Given the description of an element on the screen output the (x, y) to click on. 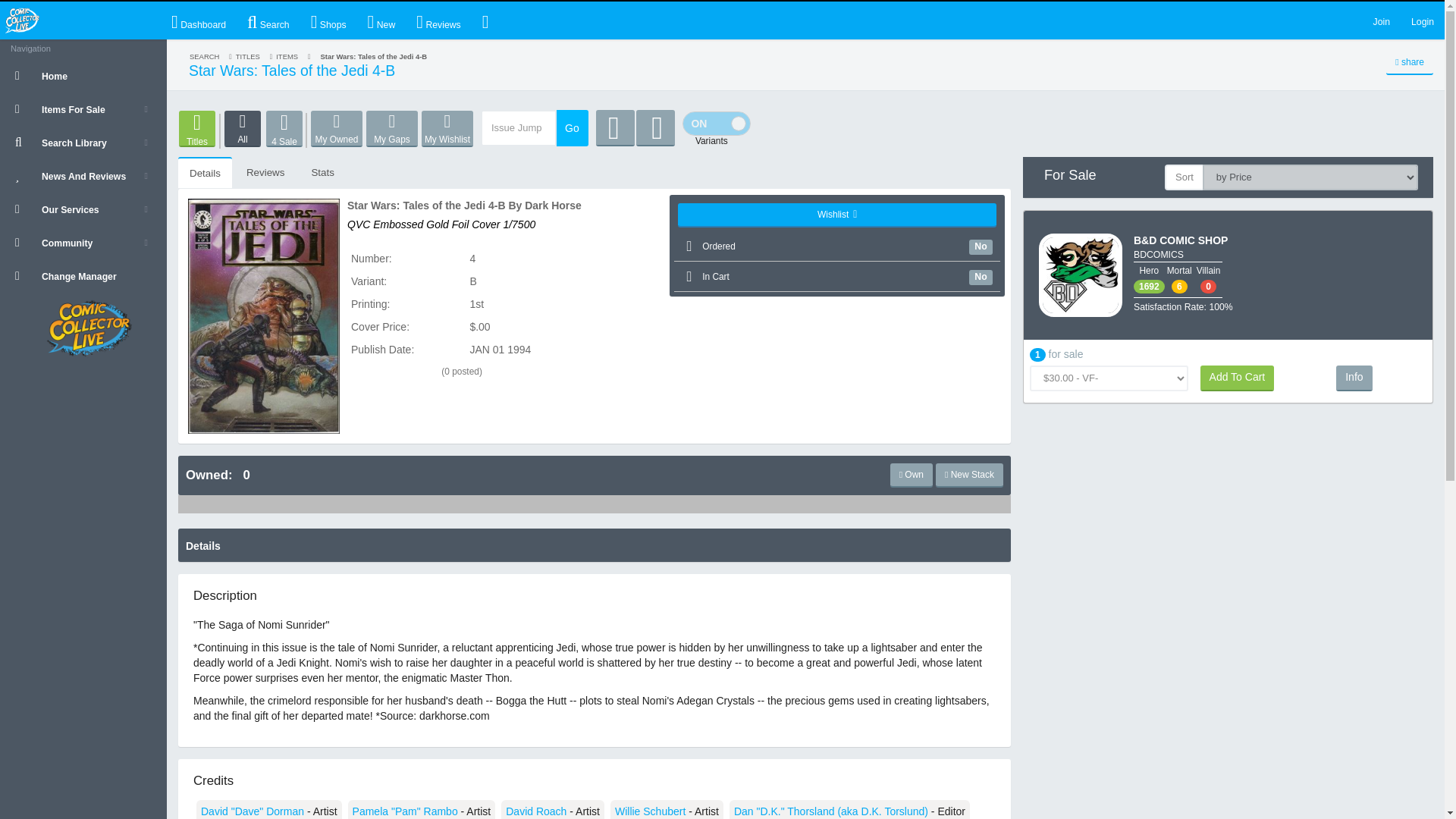
Our Services (83, 209)
Reviews (438, 20)
Home (83, 75)
Items For Sale (83, 109)
Search (267, 20)
Shops (327, 20)
News And Reviews (83, 175)
Add To Cart (1237, 378)
Search Library (83, 142)
SEARCH (204, 56)
Community (83, 242)
Change Manager (83, 275)
Join (1381, 20)
New (381, 20)
Add Issue to Wishlist (836, 215)
